Given the description of an element on the screen output the (x, y) to click on. 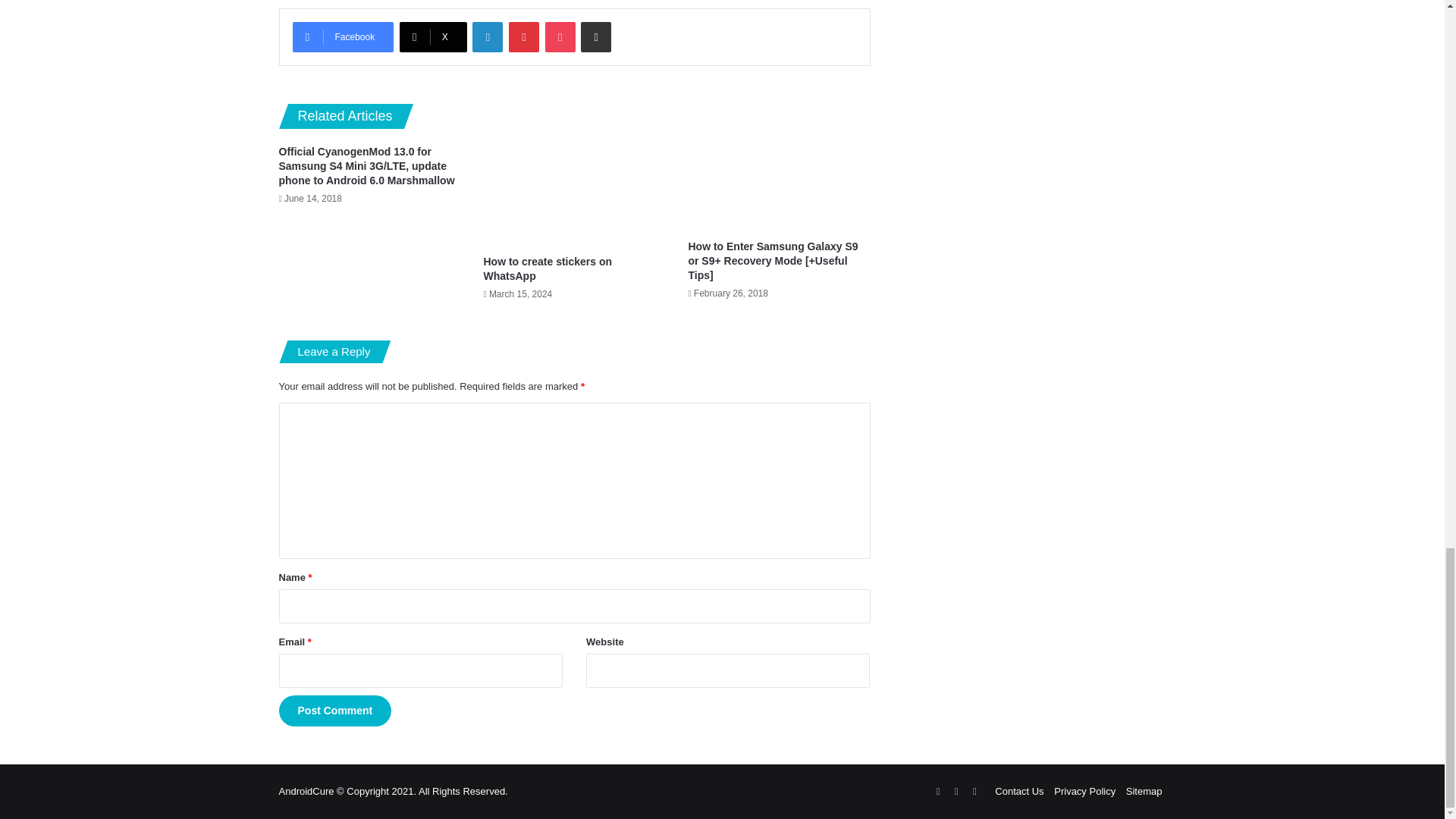
Facebook (343, 37)
How to create stickers on WhatsApp (547, 268)
Pocket (559, 37)
Share via Email (595, 37)
Post Comment (335, 710)
Pinterest (523, 37)
Post Comment (335, 710)
LinkedIn (486, 37)
X (432, 37)
